Given the description of an element on the screen output the (x, y) to click on. 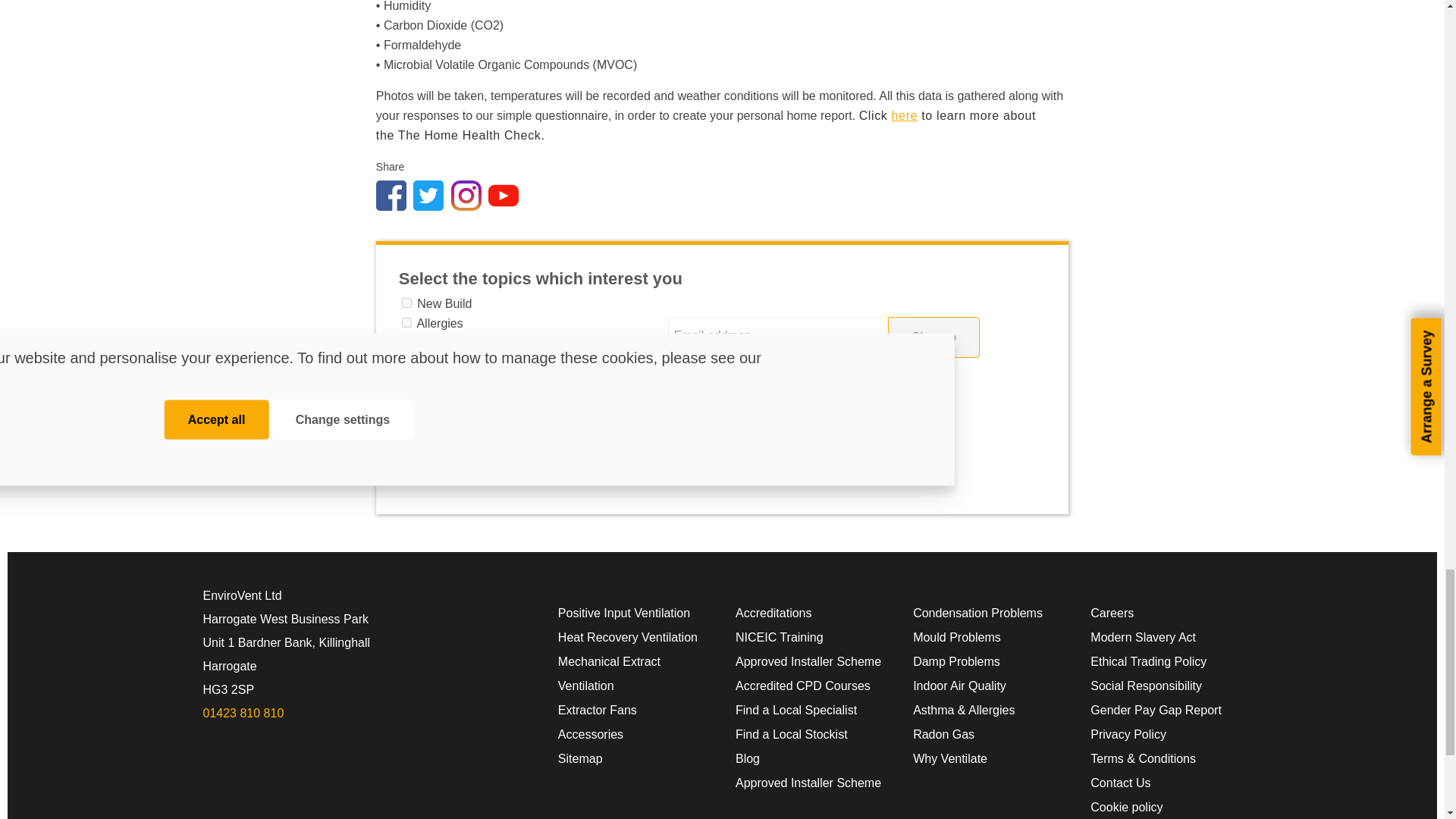
Mould (406, 381)
New Build (406, 302)
Condensation (406, 401)
Damp (406, 361)
Ventilation (406, 342)
Products (406, 480)
Home (406, 440)
Allergies (406, 322)
Company News (406, 460)
Radon Gas (406, 420)
